Given the description of an element on the screen output the (x, y) to click on. 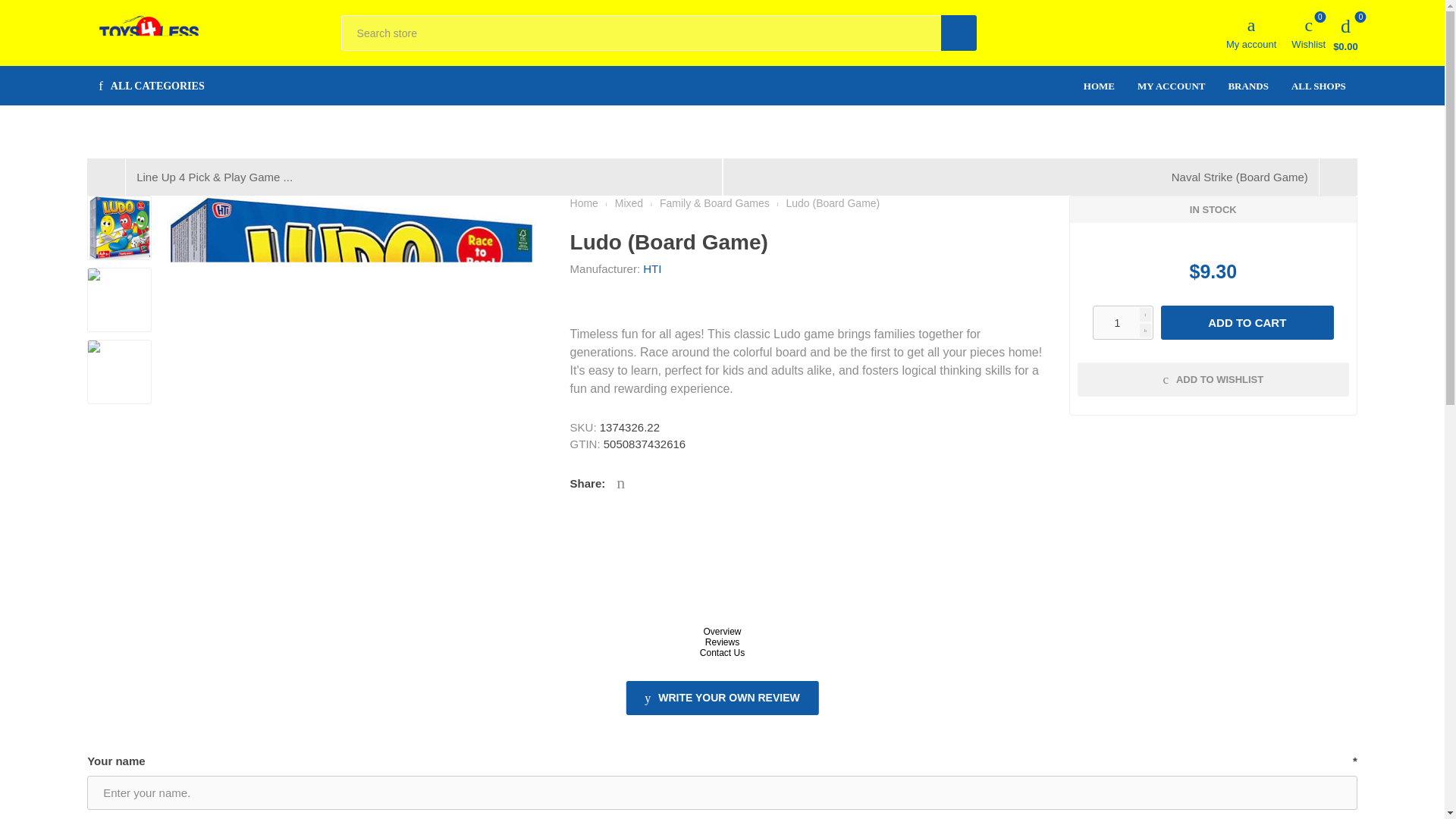
HOME (1307, 32)
My Account (1098, 86)
MY ACCOUNT (1170, 86)
Brands (1170, 86)
Search (1247, 86)
Toys4Less (958, 32)
HOME (148, 32)
1 (1098, 86)
Search (1123, 322)
